Given the description of an element on the screen output the (x, y) to click on. 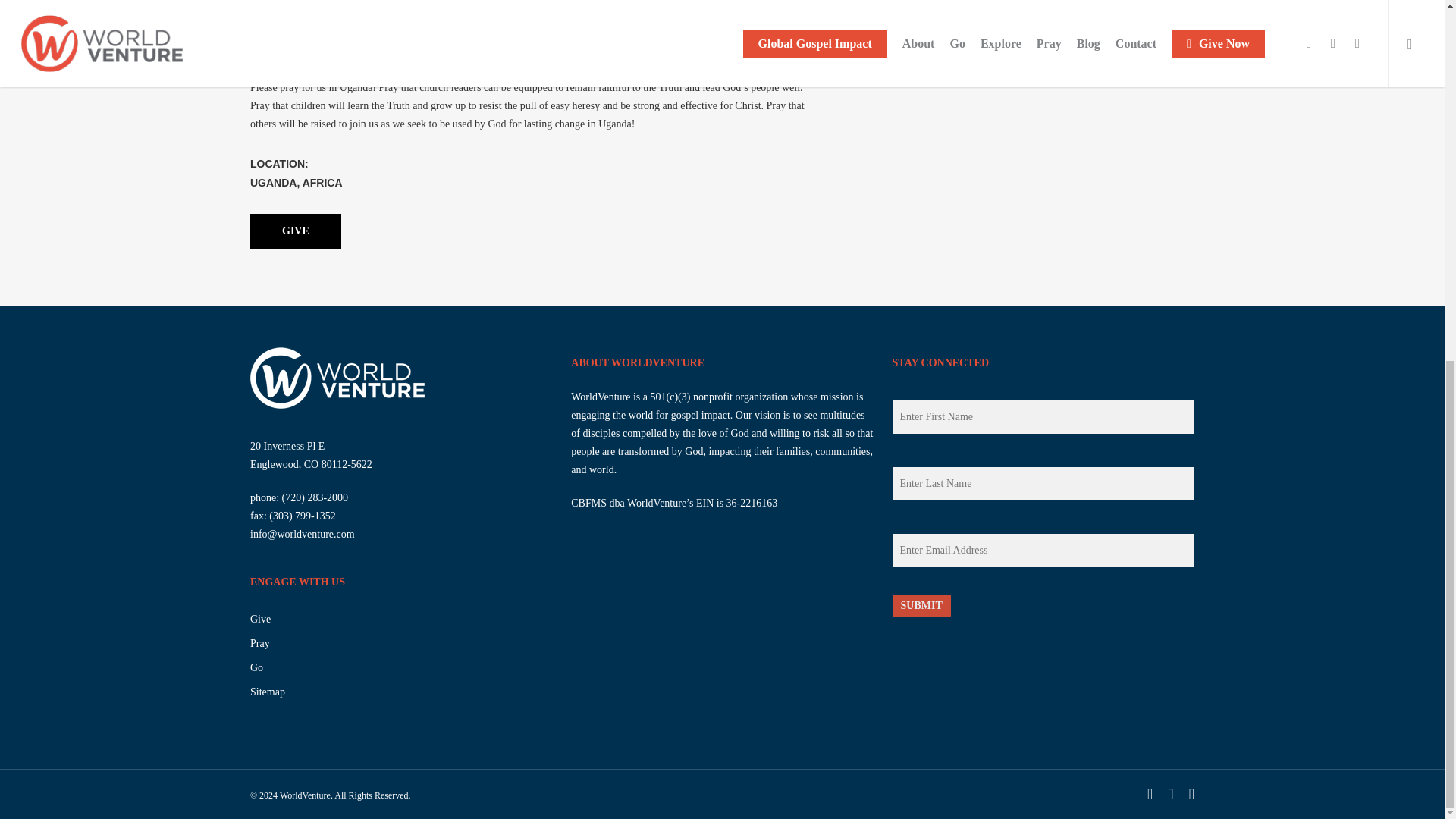
GIVE (295, 230)
Submit (921, 605)
